Given the description of an element on the screen output the (x, y) to click on. 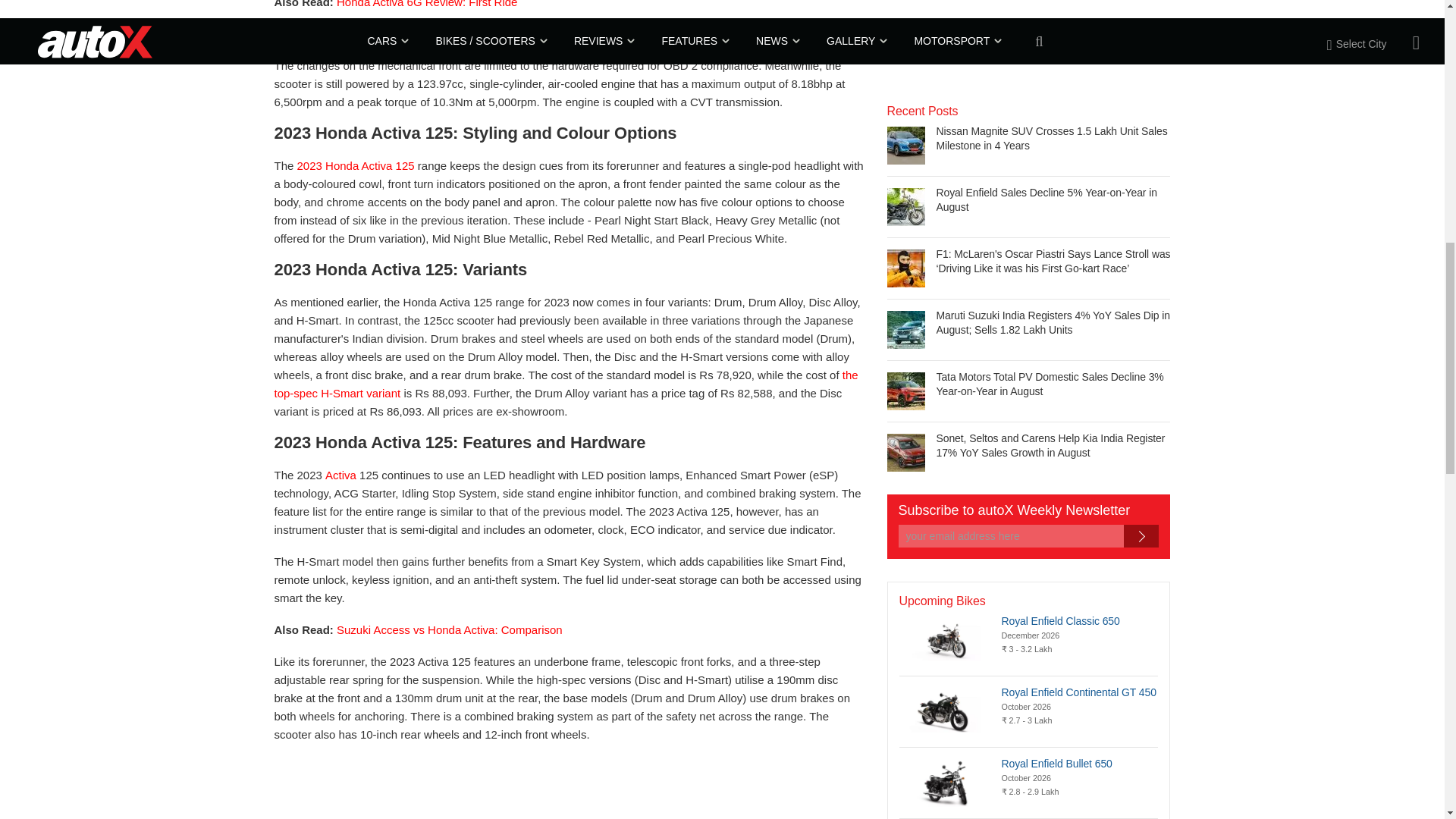
3rd party ad content (568, 792)
3rd party ad content (1000, 40)
